Given the description of an element on the screen output the (x, y) to click on. 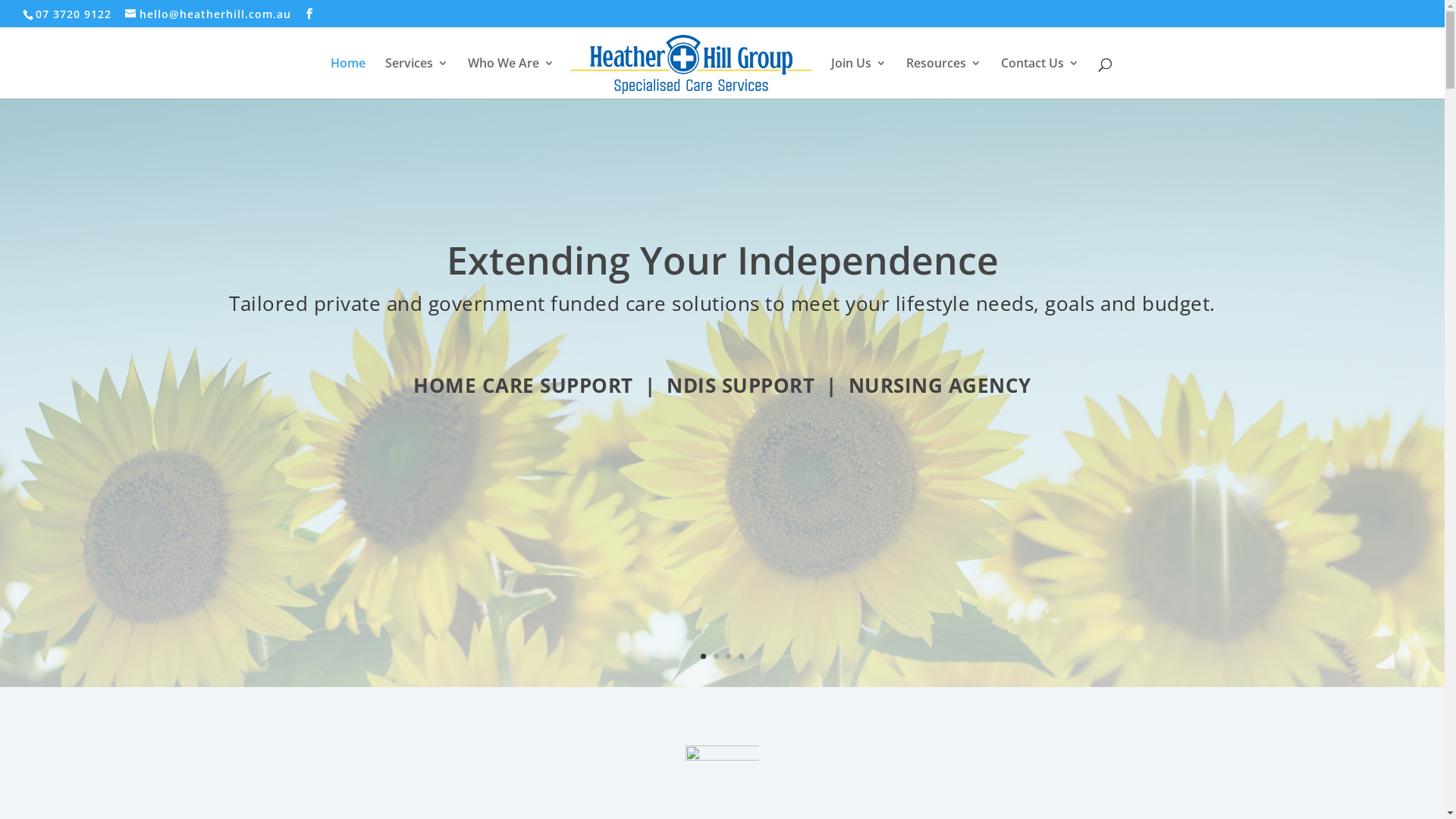
NDIS SUPPORT Element type: text (740, 384)
4 Element type: text (740, 655)
Contact Us Element type: text (1040, 77)
Home Element type: text (347, 77)
2 Element type: text (715, 655)
07 3720 9122 Element type: text (75, 13)
hello@heatherhill.com.au Element type: text (208, 13)
Join Us Element type: text (858, 77)
NURSING AGENCY Element type: text (939, 384)
1 Element type: text (703, 655)
HOME CARE SUPPORT Element type: text (523, 384)
3 Element type: text (728, 655)
Resources Element type: text (943, 77)
Who We Are Element type: text (510, 77)
Services Element type: text (416, 77)
